Given the description of an element on the screen output the (x, y) to click on. 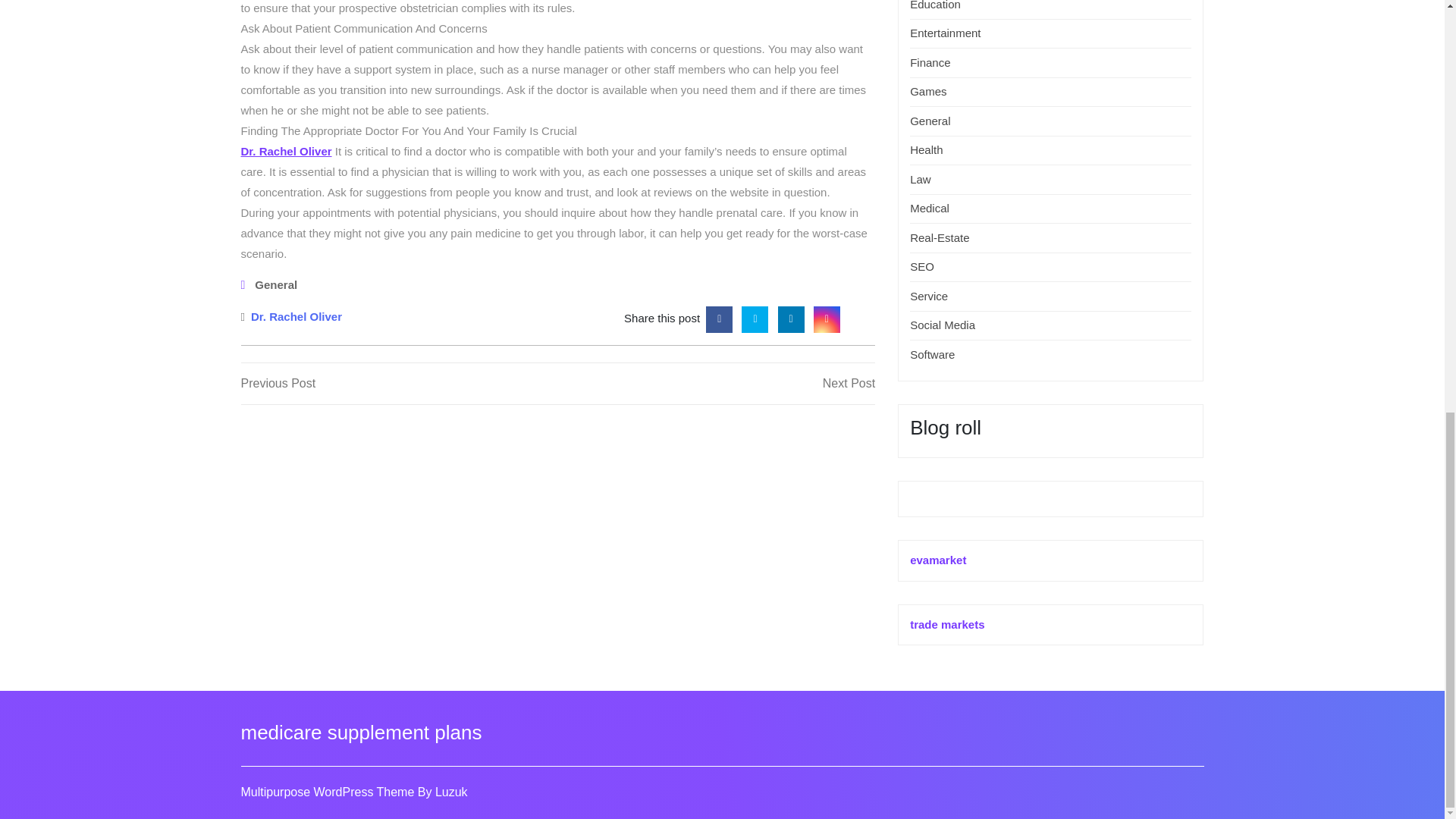
Linkedin (791, 317)
SEO (922, 266)
Twitter (754, 317)
Real-Estate (939, 237)
Law (920, 178)
Dr. Rachel Oliver (296, 316)
Education (935, 5)
Medical (929, 207)
Instagram (826, 317)
Social Media (942, 324)
General (399, 383)
Games (716, 383)
Service (930, 120)
